Given the description of an element on the screen output the (x, y) to click on. 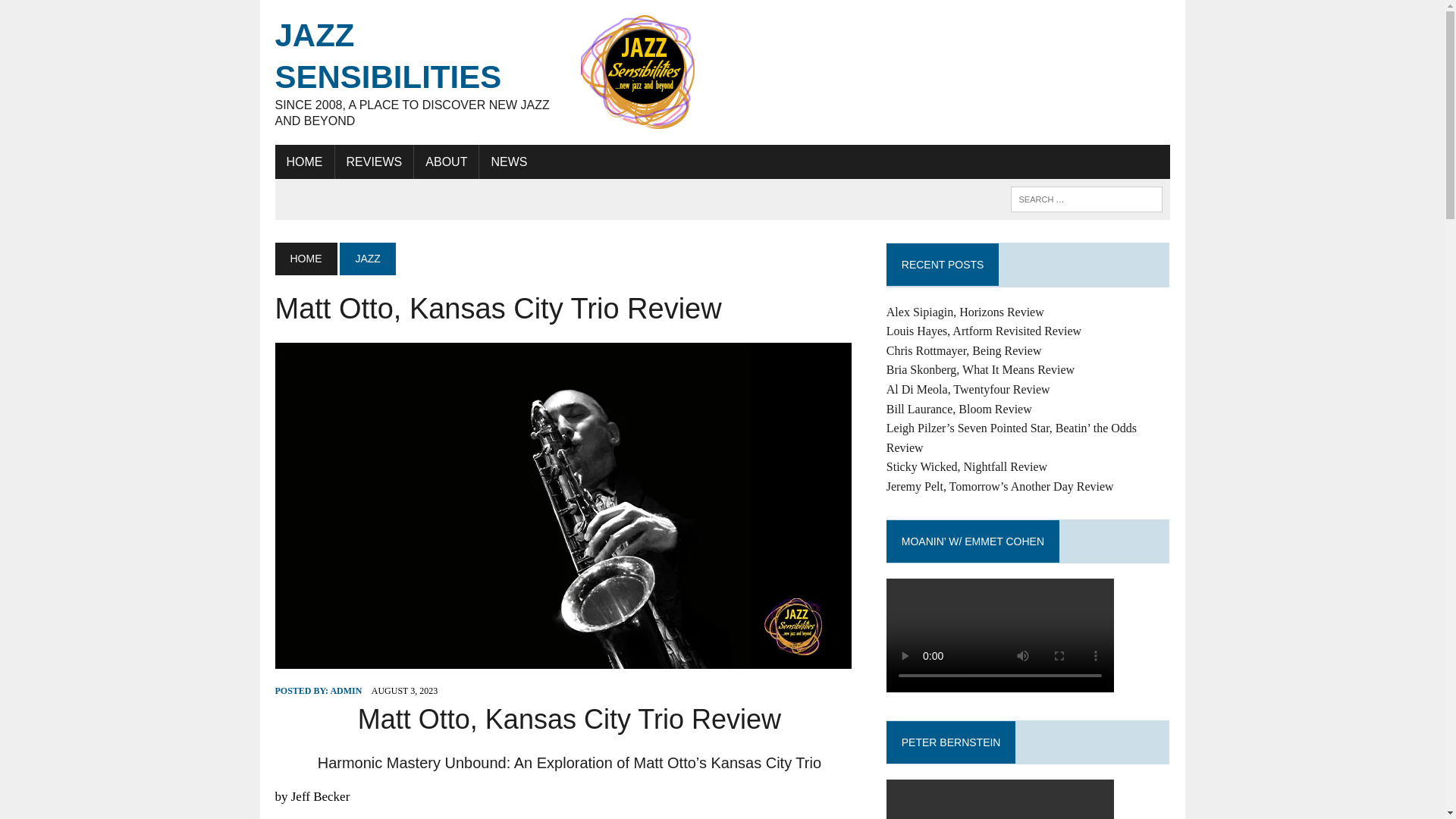
REVIEWS (373, 161)
Jazz Sensibilities (416, 72)
HOME (305, 258)
ABOUT (446, 161)
JAZZ (366, 258)
ADMIN (345, 690)
NEWS (508, 161)
HOME (304, 161)
Louis Hayes, Artform Revisited Review (983, 330)
